Given the description of an element on the screen output the (x, y) to click on. 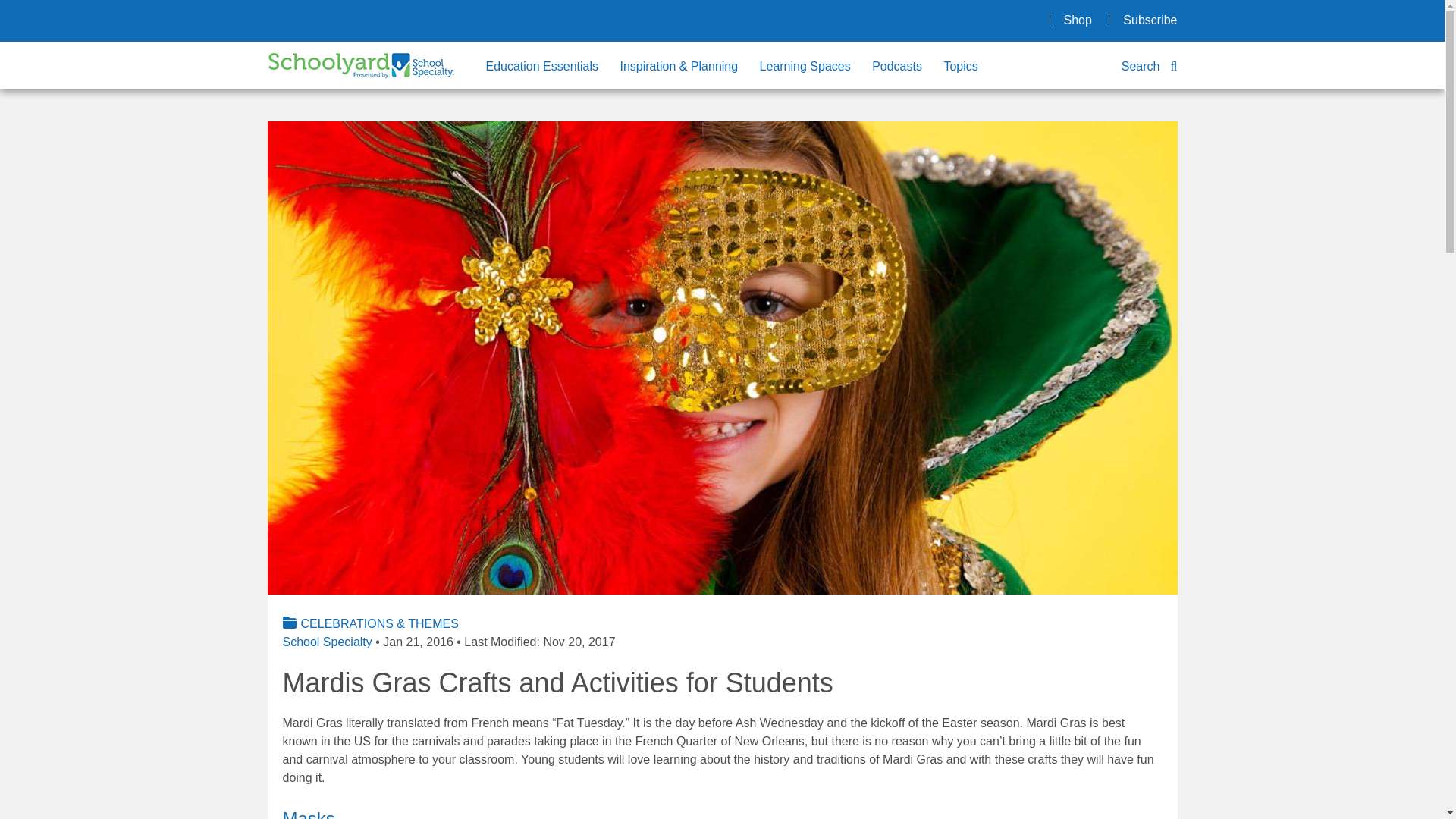
Subscribe (1149, 19)
Facebook (845, 20)
Twitter (990, 20)
LinkedIn (917, 20)
Pinterest (953, 20)
Podcasts (906, 66)
LinkedIn (917, 20)
YouTube (1027, 20)
Instagram (881, 20)
Pinterest (954, 20)
School Specialty (326, 641)
YouTube (1026, 20)
Instagram (881, 20)
Facebook (844, 20)
Education Essentials (549, 66)
